Given the description of an element on the screen output the (x, y) to click on. 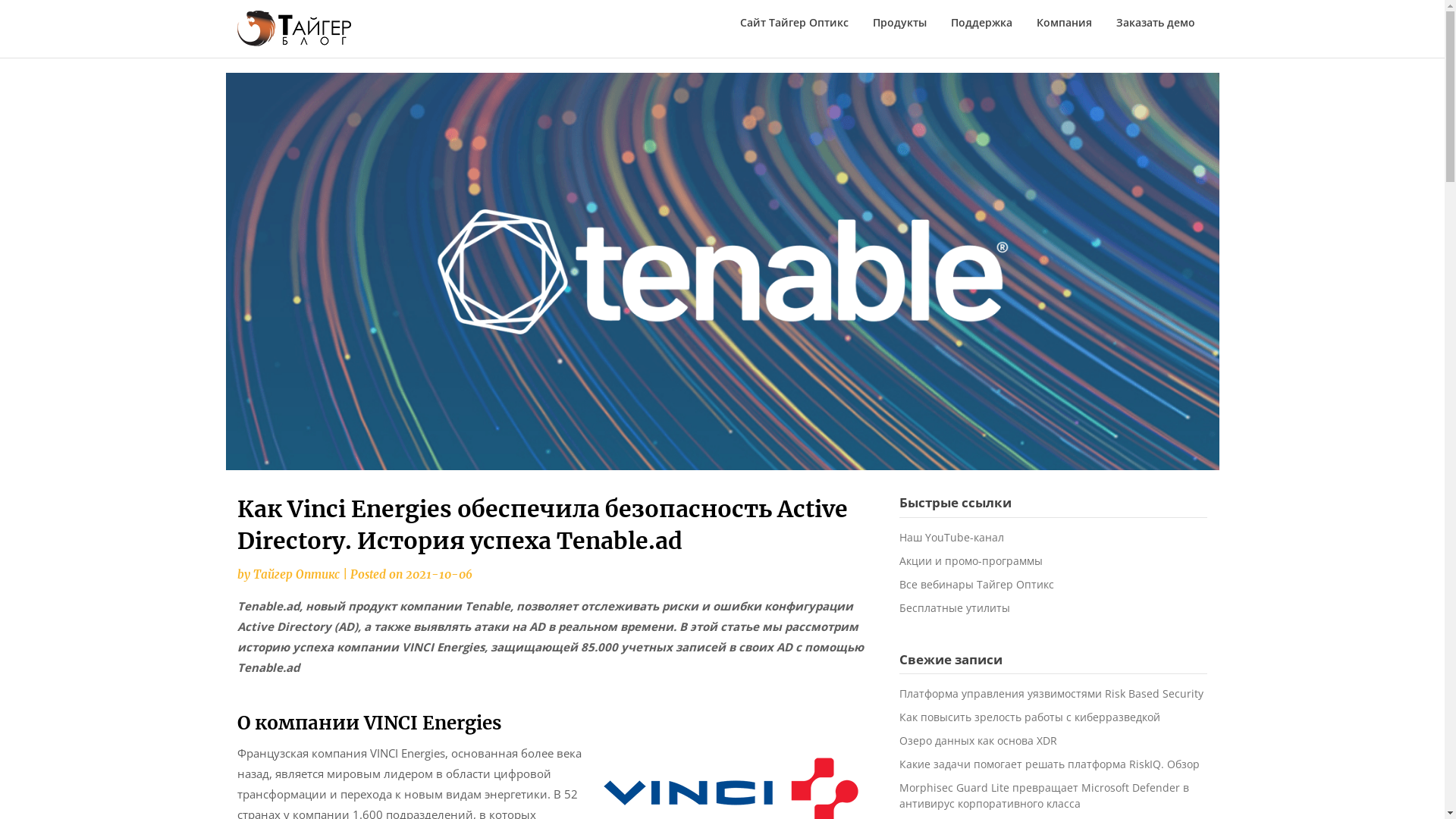
2021-10-06 Element type: text (437, 574)
Skip to content Element type: text (236, 72)
